Given the description of an element on the screen output the (x, y) to click on. 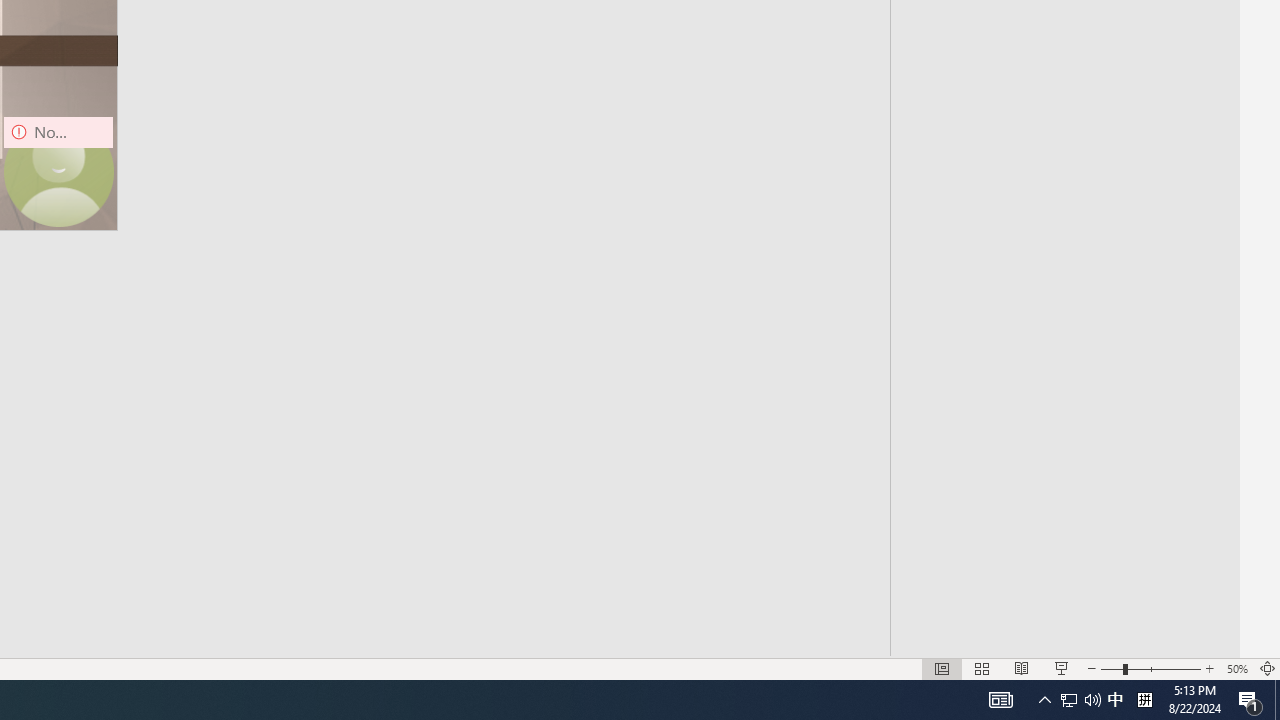
Dari (1063, 531)
Catalan (1063, 202)
Cantonese (Traditional) (1063, 161)
Chinese (Literary) (1063, 285)
Czech (1063, 449)
Chhattisgarhi (1063, 243)
Divehi (1063, 572)
